Given the description of an element on the screen output the (x, y) to click on. 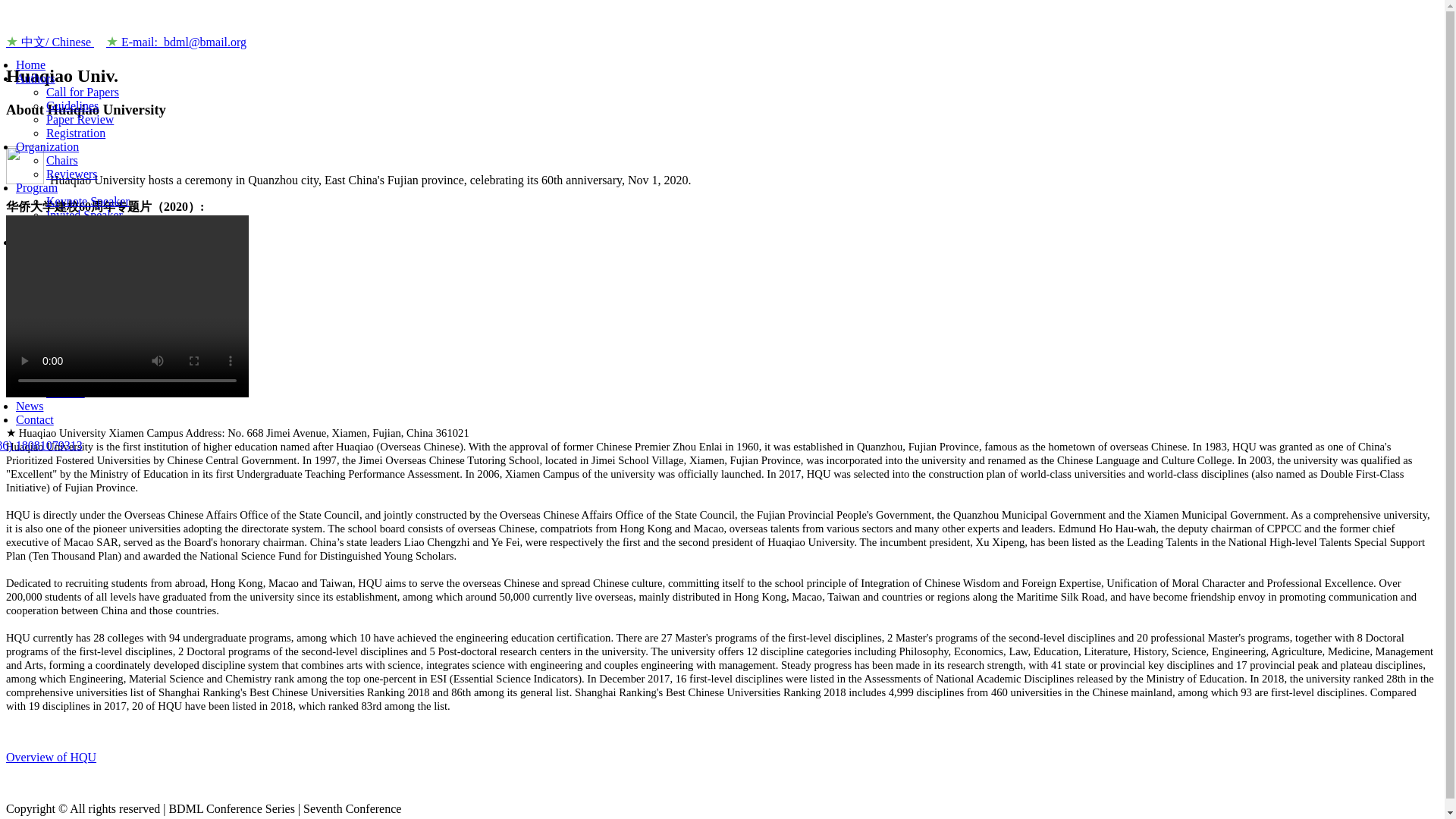
News (29, 405)
Home (30, 64)
BDML2020 (106, 309)
Program (37, 187)
Organization (47, 146)
Venue (61, 364)
History (64, 255)
BDML2019 (106, 323)
BDML2022 (106, 282)
Reviewers (71, 173)
Schedule (68, 228)
Contact (34, 419)
Hotel (60, 378)
Chairs (62, 160)
Registration (75, 132)
